Given the description of an element on the screen output the (x, y) to click on. 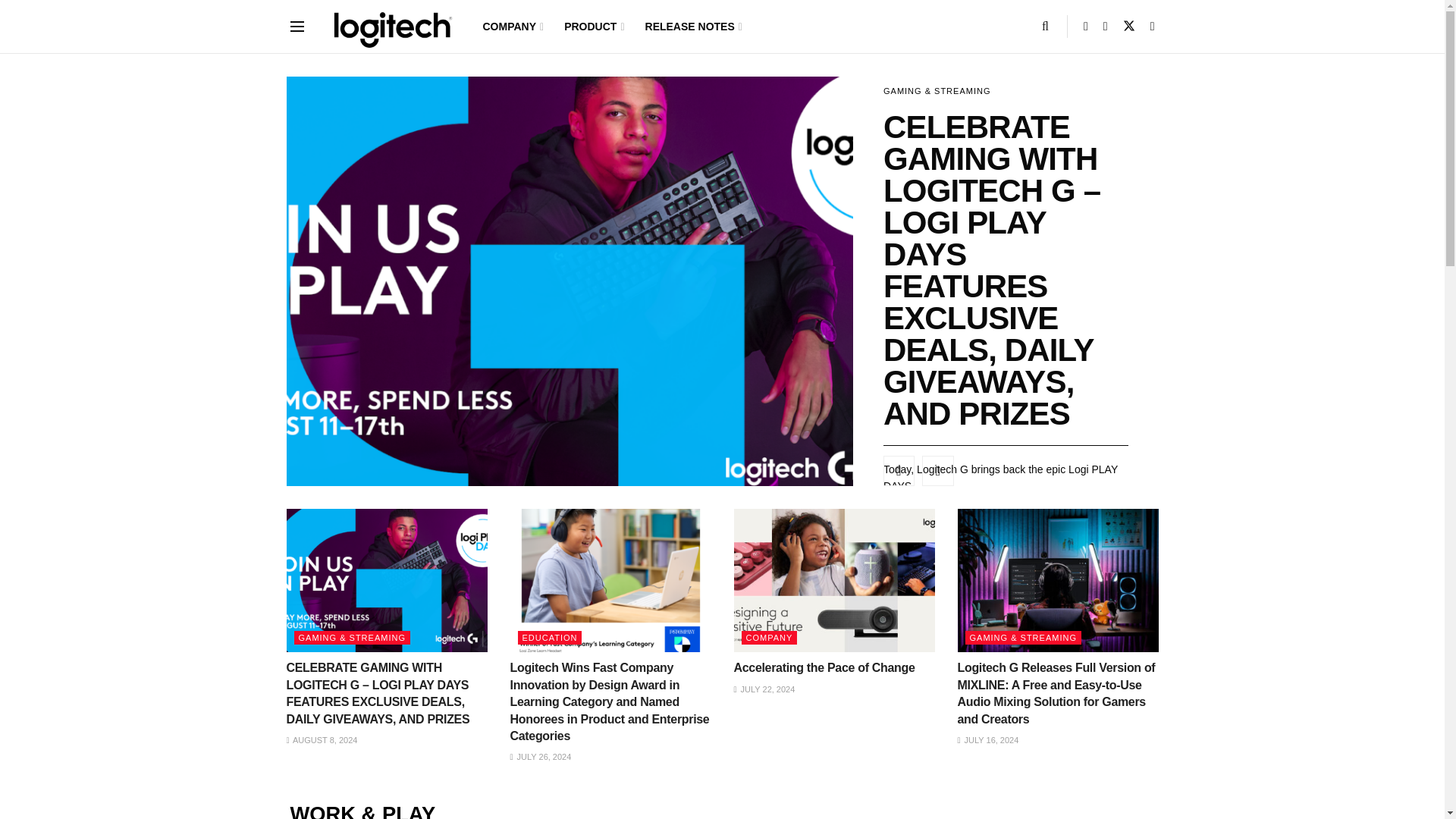
RELEASE NOTES (692, 26)
PRODUCT (592, 26)
COMPANY (511, 26)
logi BLOG (388, 25)
